Given the description of an element on the screen output the (x, y) to click on. 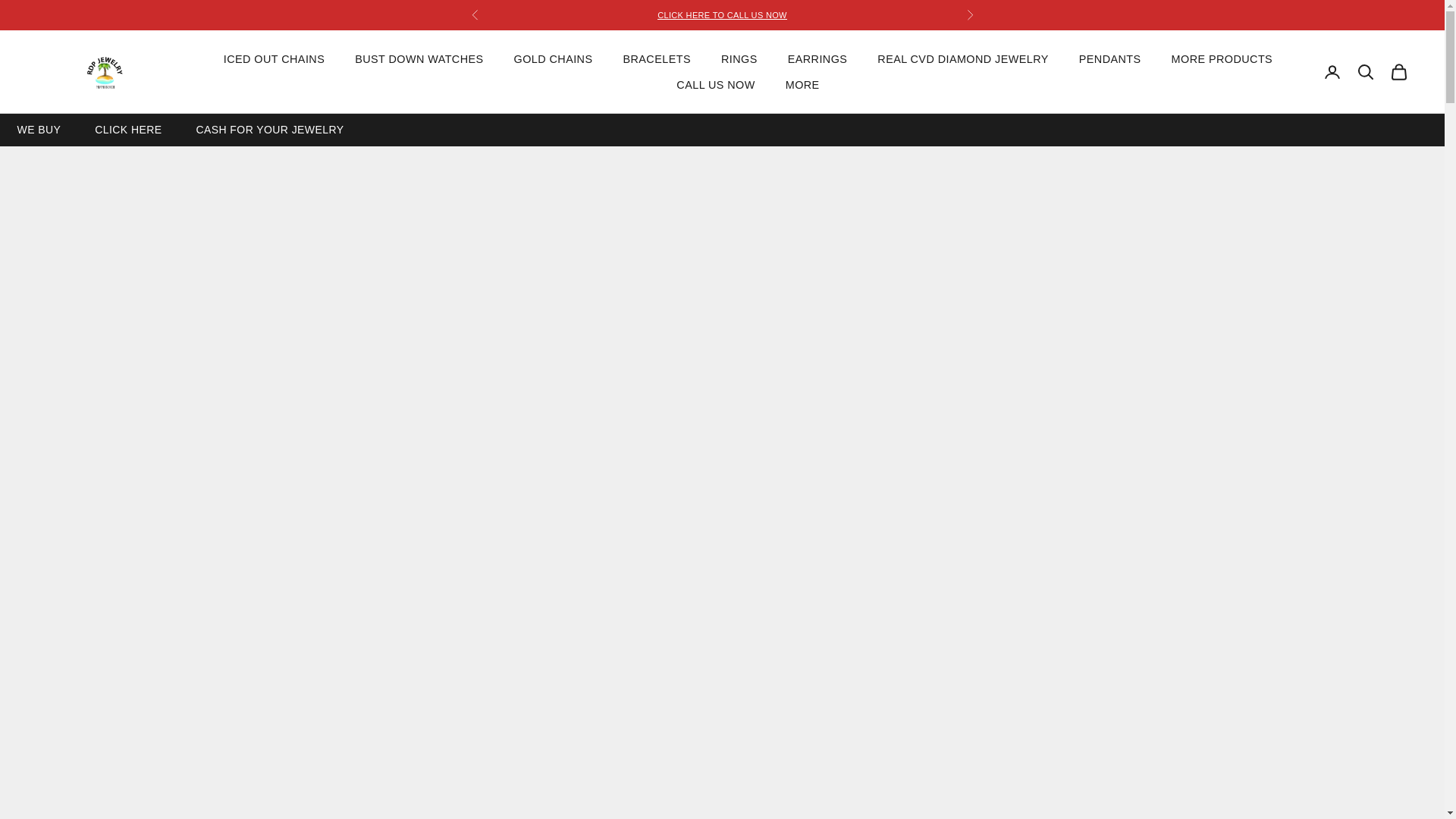
CASH FOR YOUR JEWELRY (269, 129)
tel:3054657554 (722, 14)
CLICK HERE TO CALL US NOW (722, 14)
RDP Miami Beach Jewelry (104, 72)
CLICK HERE (127, 129)
WE BUY (38, 129)
